Given the description of an element on the screen output the (x, y) to click on. 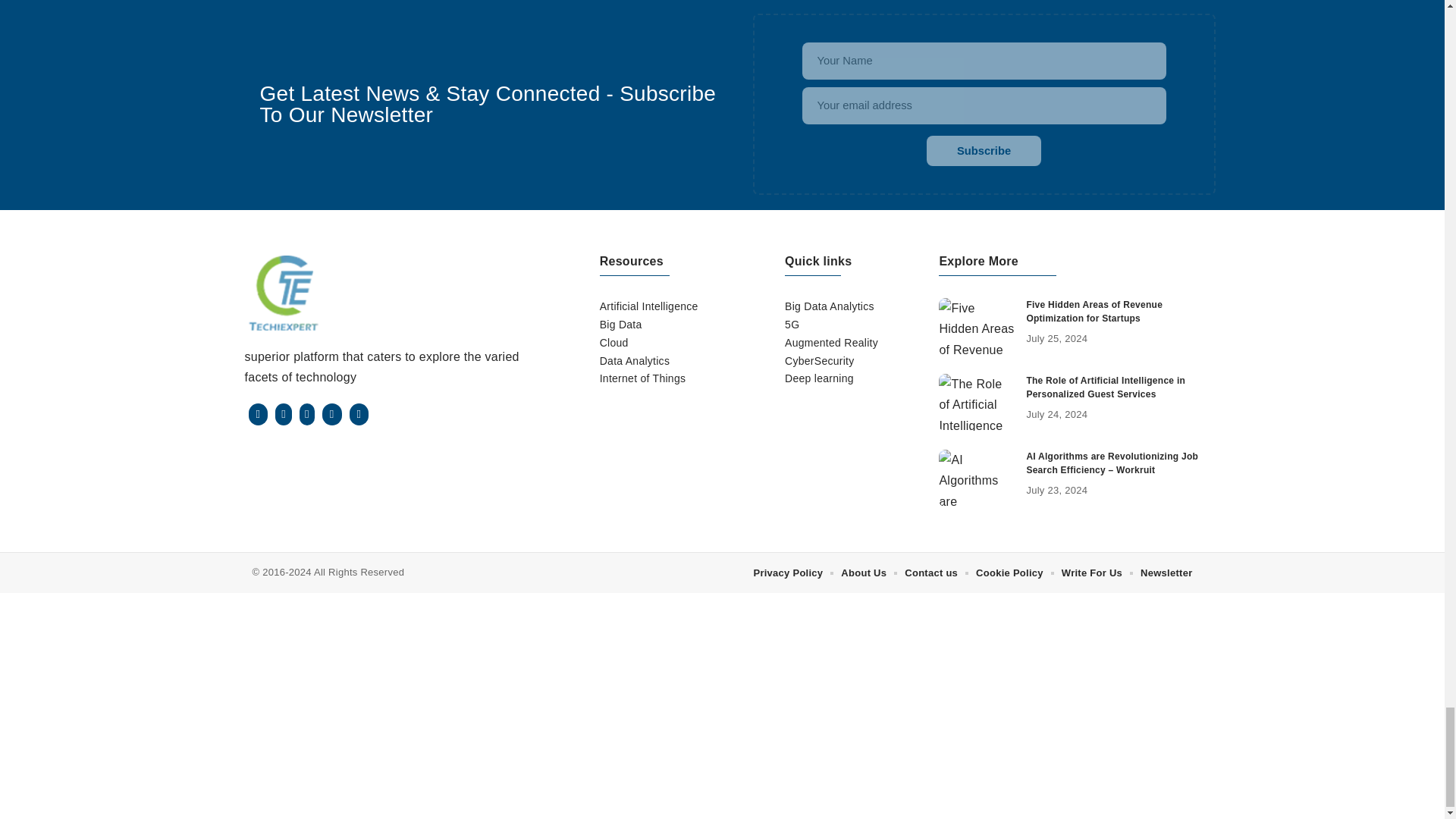
Subscribe (983, 150)
